Given the description of an element on the screen output the (x, y) to click on. 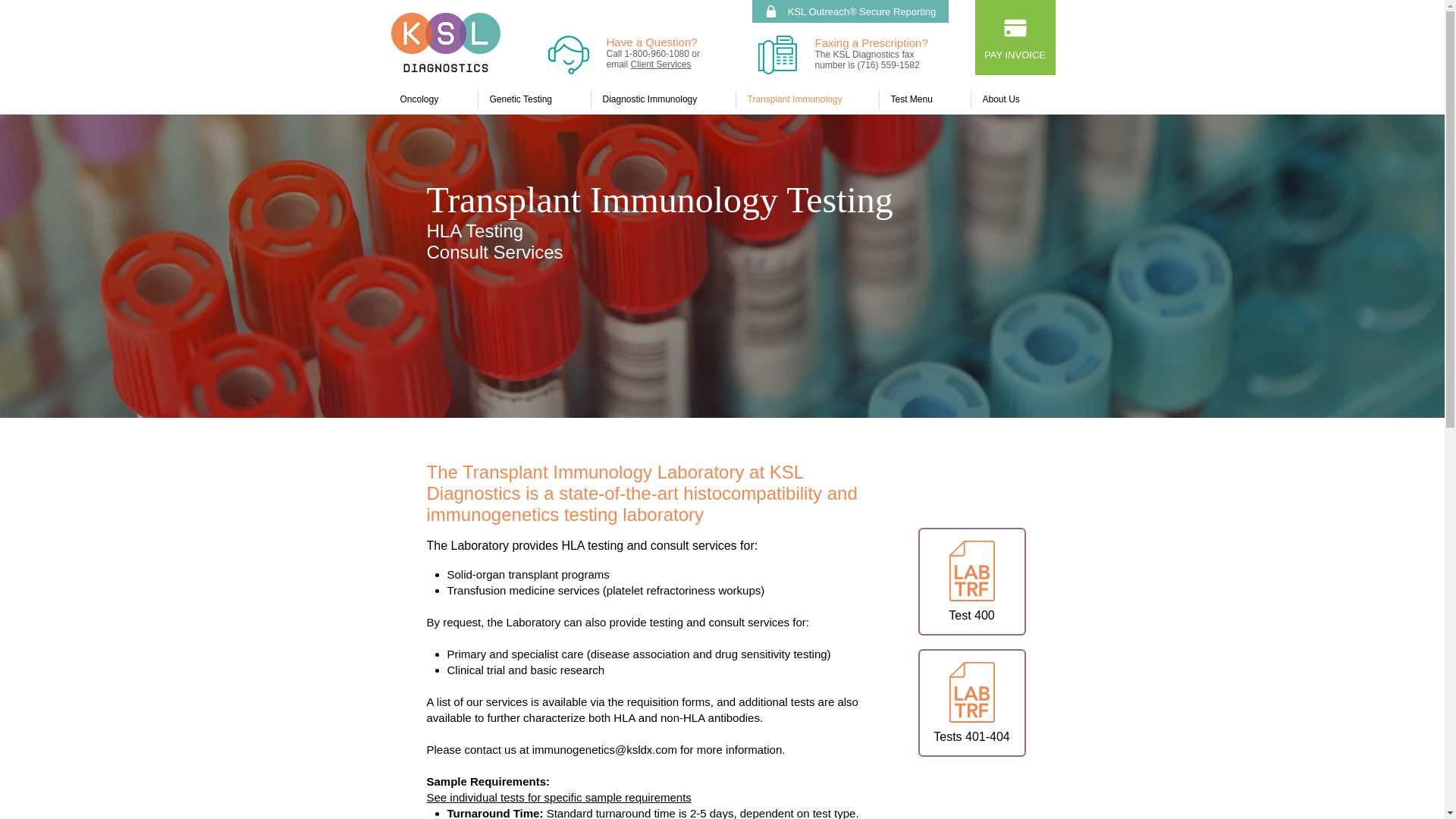
PAY INVOICE (1015, 37)
Transplant Immunology (806, 99)
Client Services (660, 63)
Test 400 (971, 581)
Tests 401-404 (971, 702)
1-800-960-1080  (658, 53)
